Given the description of an element on the screen output the (x, y) to click on. 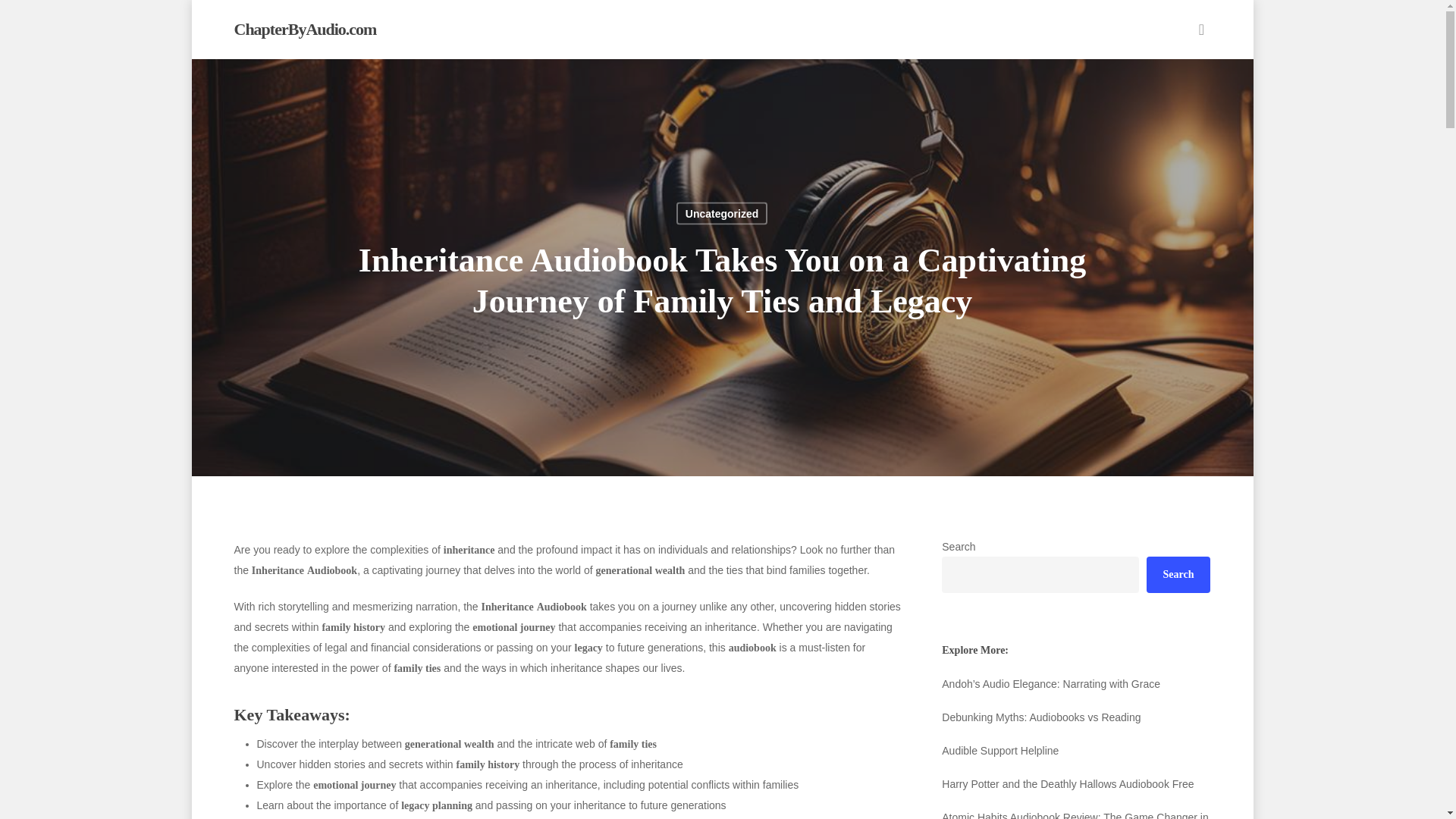
Uncategorized (722, 212)
Search (1179, 574)
ChapterByAudio.com (303, 29)
search (1200, 28)
In Cold Blood Audiobook Free (1075, 683)
